Given the description of an element on the screen output the (x, y) to click on. 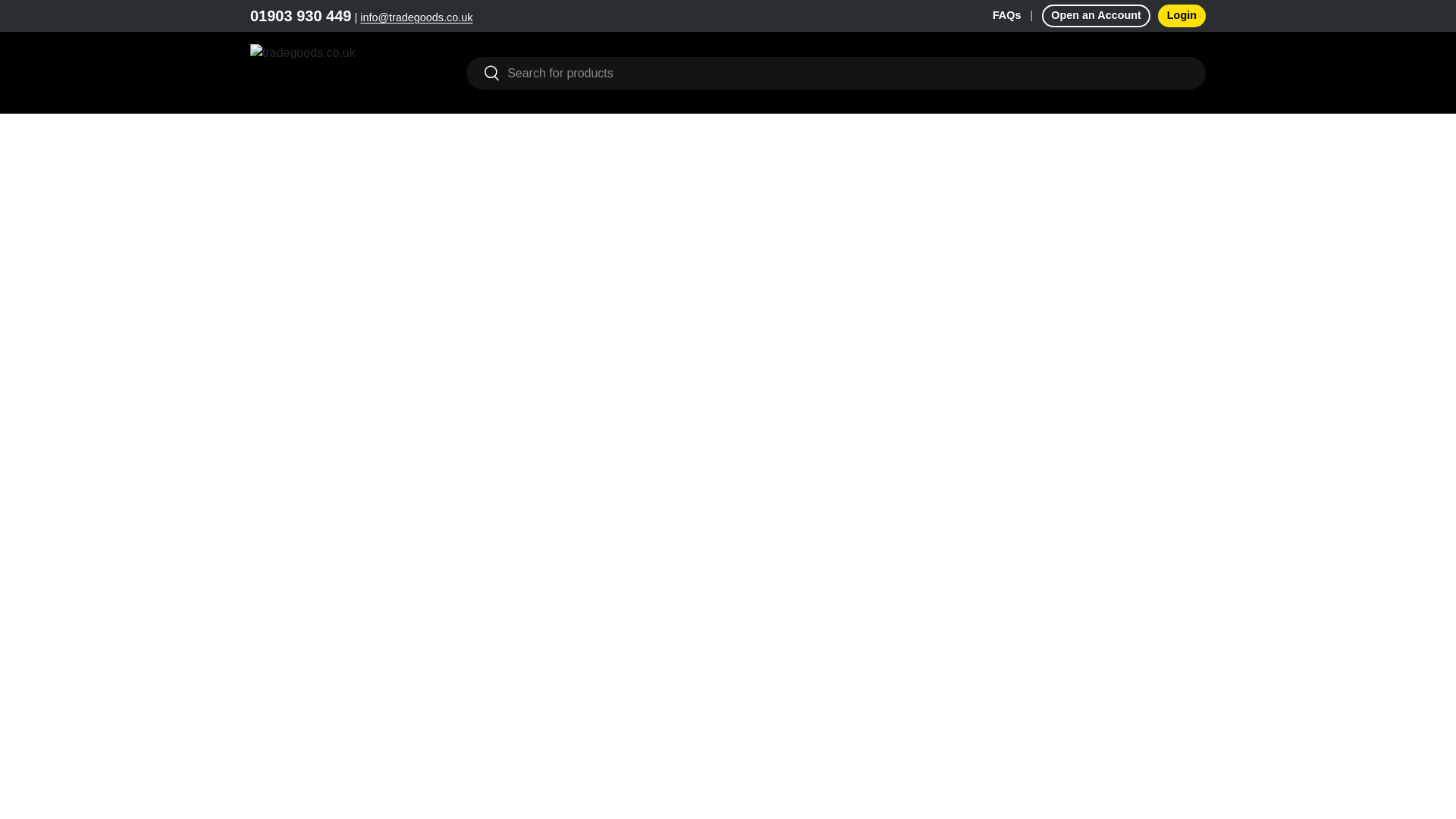
Login (1181, 15)
SKIP TO CONTENT (69, 21)
Open an Account (1096, 15)
FAQs (1017, 15)
Search (482, 73)
